Given the description of an element on the screen output the (x, y) to click on. 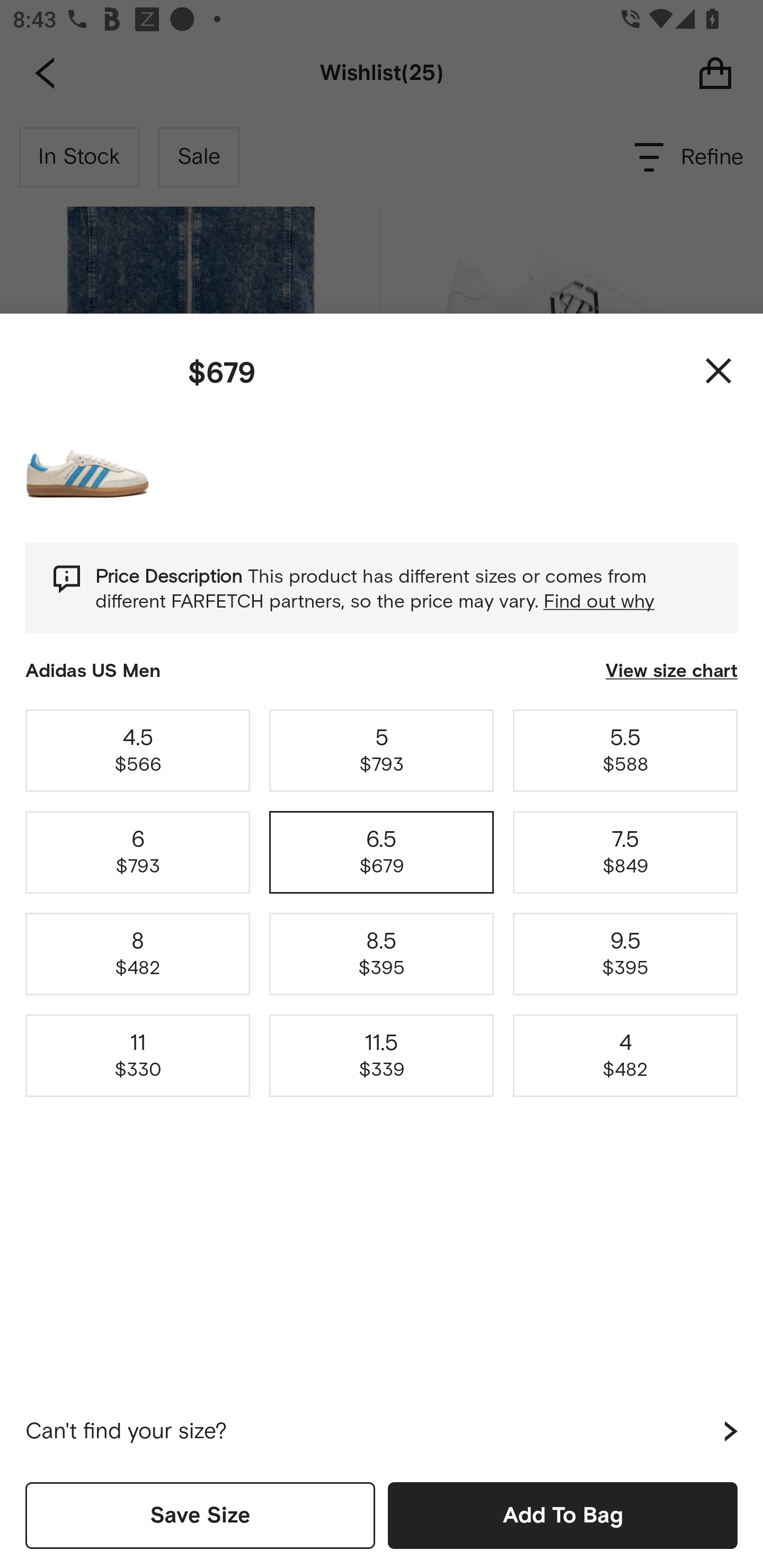
4.5 $566 (137, 749)
5 $793 (381, 749)
5.5 $588 (624, 749)
6 $793 (137, 851)
6.5 $679 (381, 851)
7.5 $849 (624, 851)
8 $482 (137, 953)
8.5 $395 (381, 953)
9.5 $395 (624, 953)
11 $330 (137, 1055)
11.5 $339 (381, 1055)
4 $482 (624, 1055)
Can't find your size? (381, 1431)
Save Size (200, 1515)
Add To Bag (562, 1515)
